Given the description of an element on the screen output the (x, y) to click on. 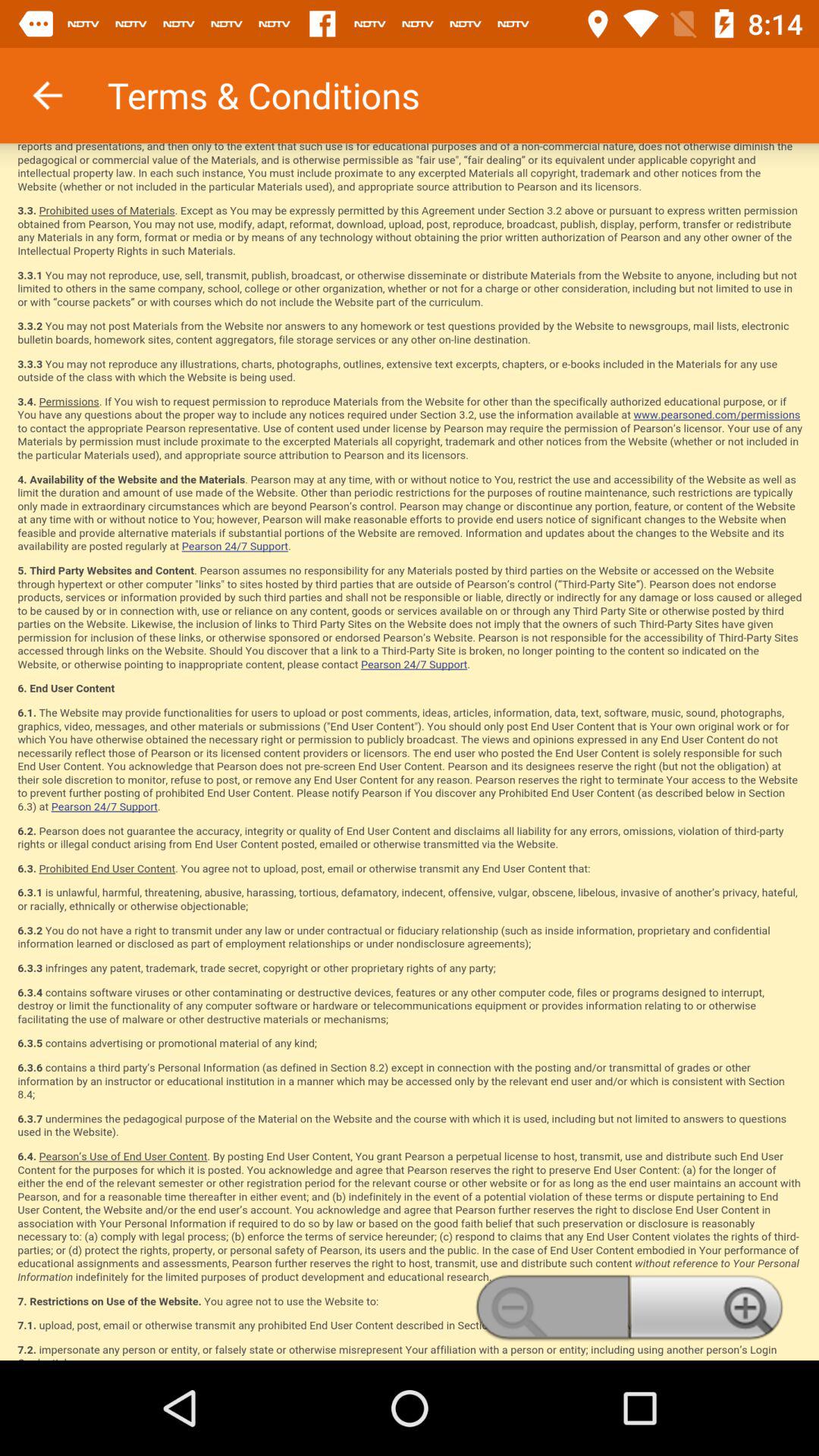
read the terms and conditions (409, 751)
